Given the description of an element on the screen output the (x, y) to click on. 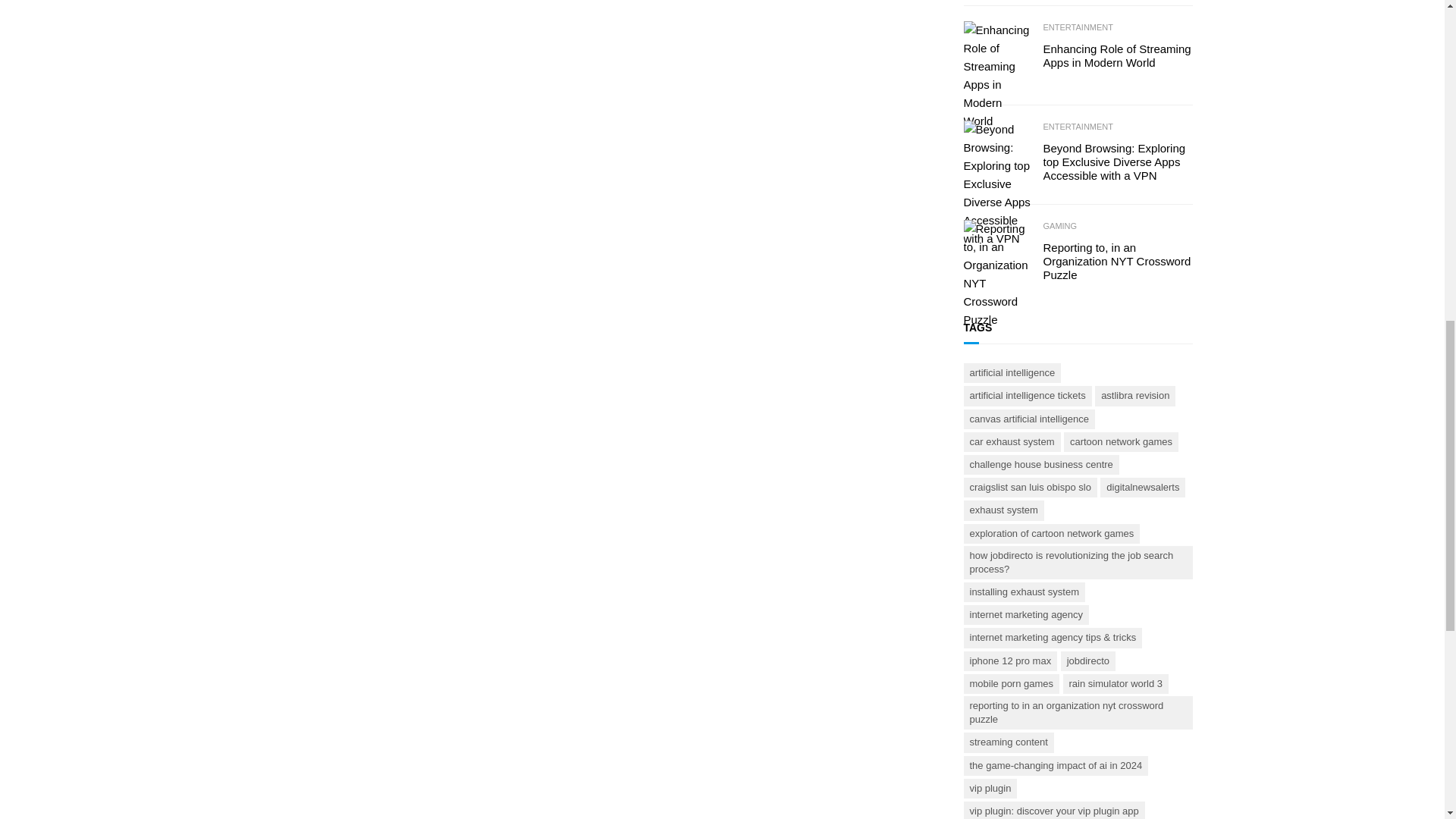
Reporting to, in an Organization NYT Crossword Puzzle (1117, 260)
ENTERTAINMENT (1078, 28)
Enhancing Role of Streaming Apps in Modern World (1117, 55)
ENTERTAINMENT (1078, 127)
artificial intelligence (1011, 373)
GAMING (1060, 226)
